Given the description of an element on the screen output the (x, y) to click on. 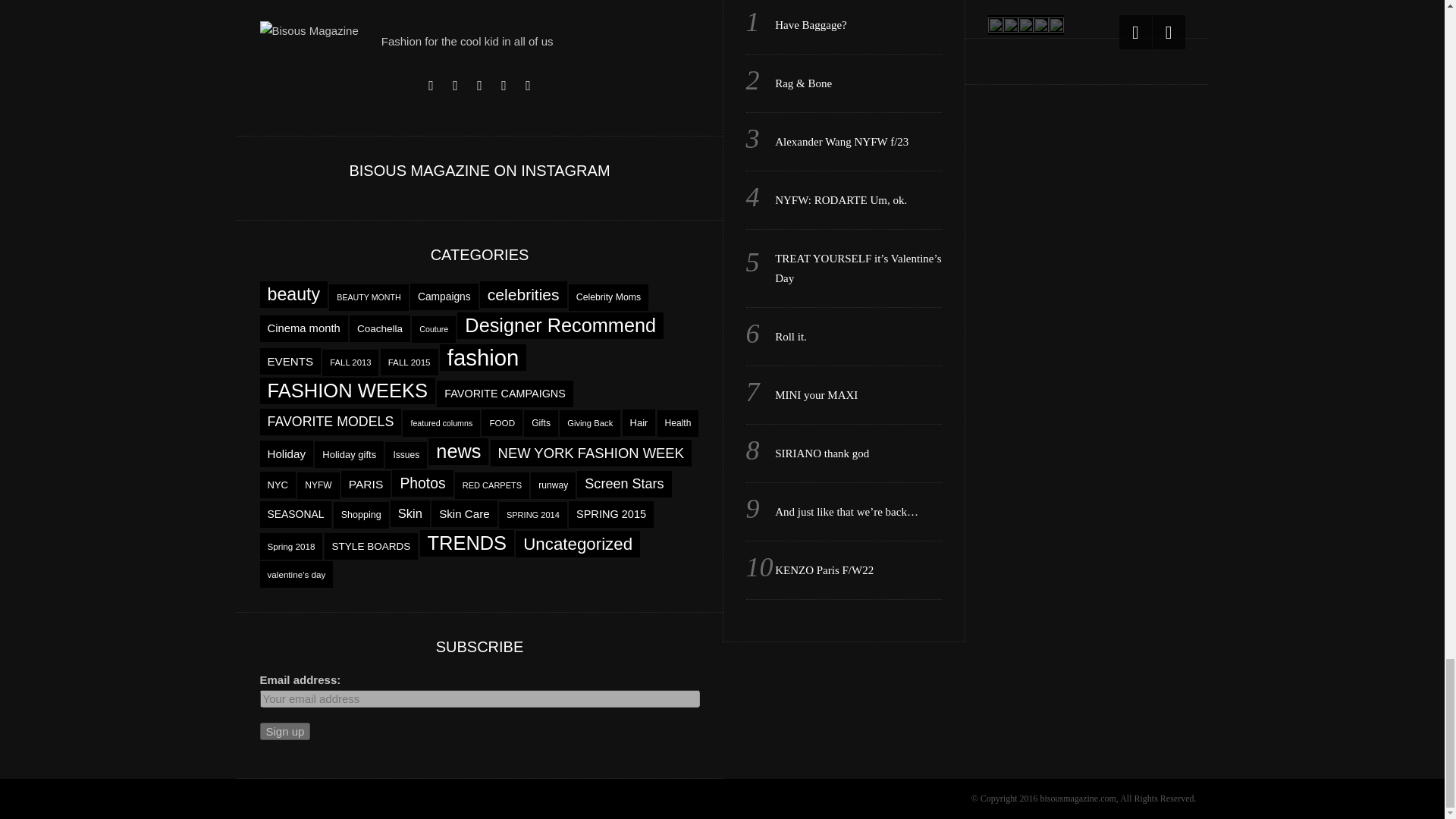
18 topics (608, 297)
141 topics (293, 294)
Sign up (284, 731)
23 topics (379, 328)
13 topics (368, 297)
95 topics (523, 294)
24 topics (444, 296)
207 topics (560, 325)
13 topics (433, 329)
31 topics (289, 361)
